Given the description of an element on the screen output the (x, y) to click on. 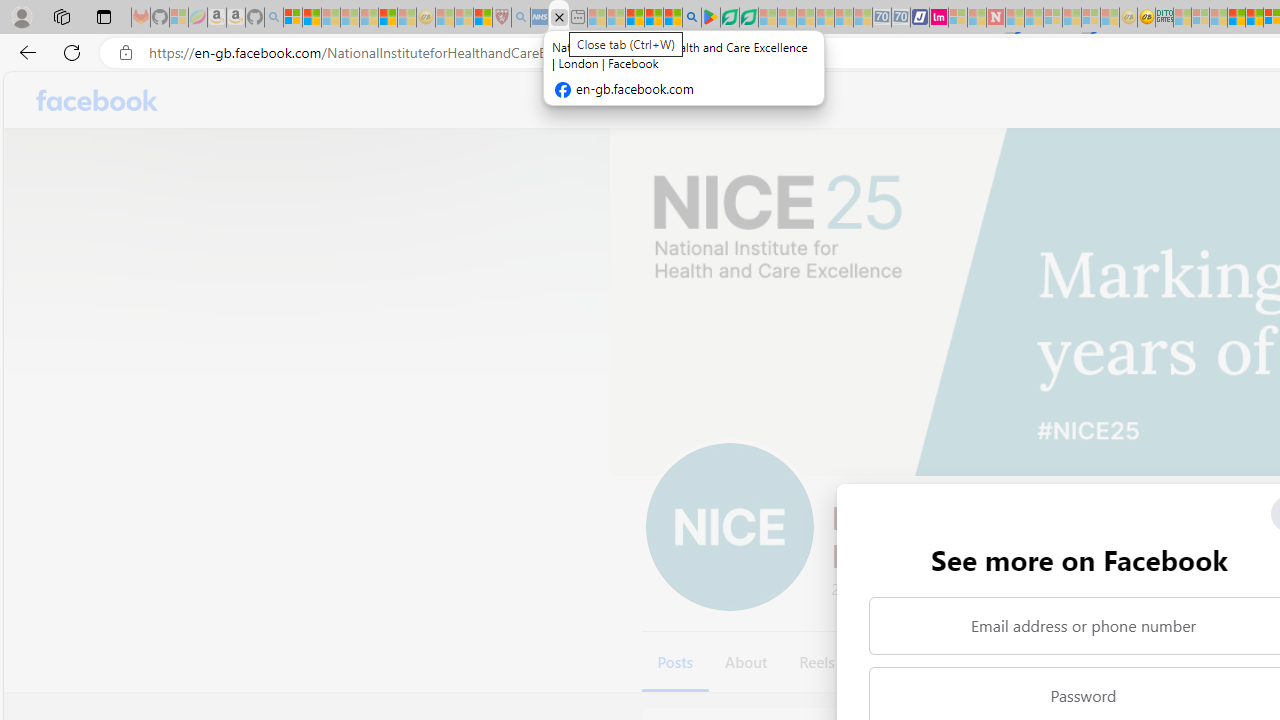
Pets - MSN (654, 17)
